Given the description of an element on the screen output the (x, y) to click on. 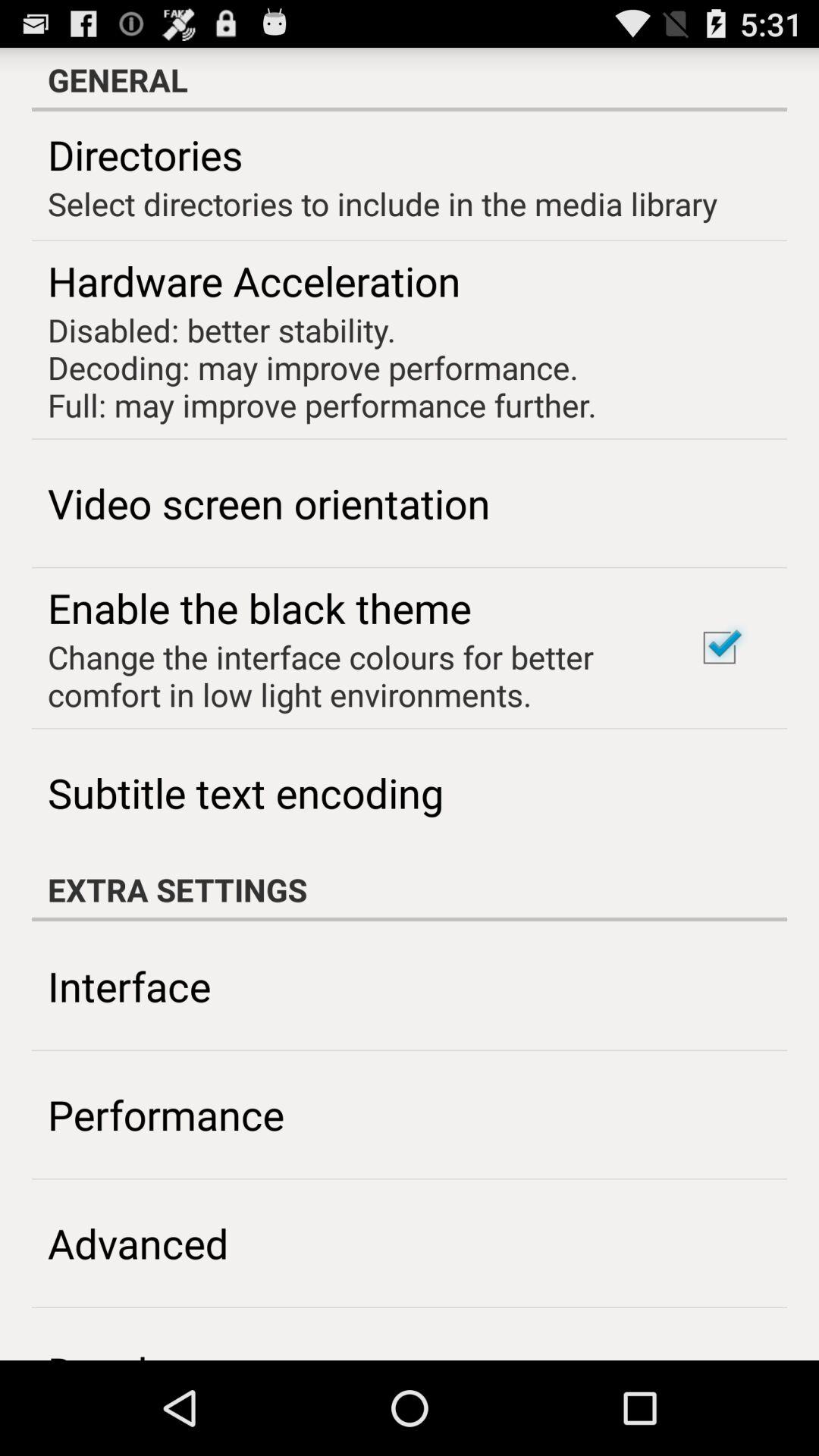
open icon above the subtitle text encoding (351, 675)
